Given the description of an element on the screen output the (x, y) to click on. 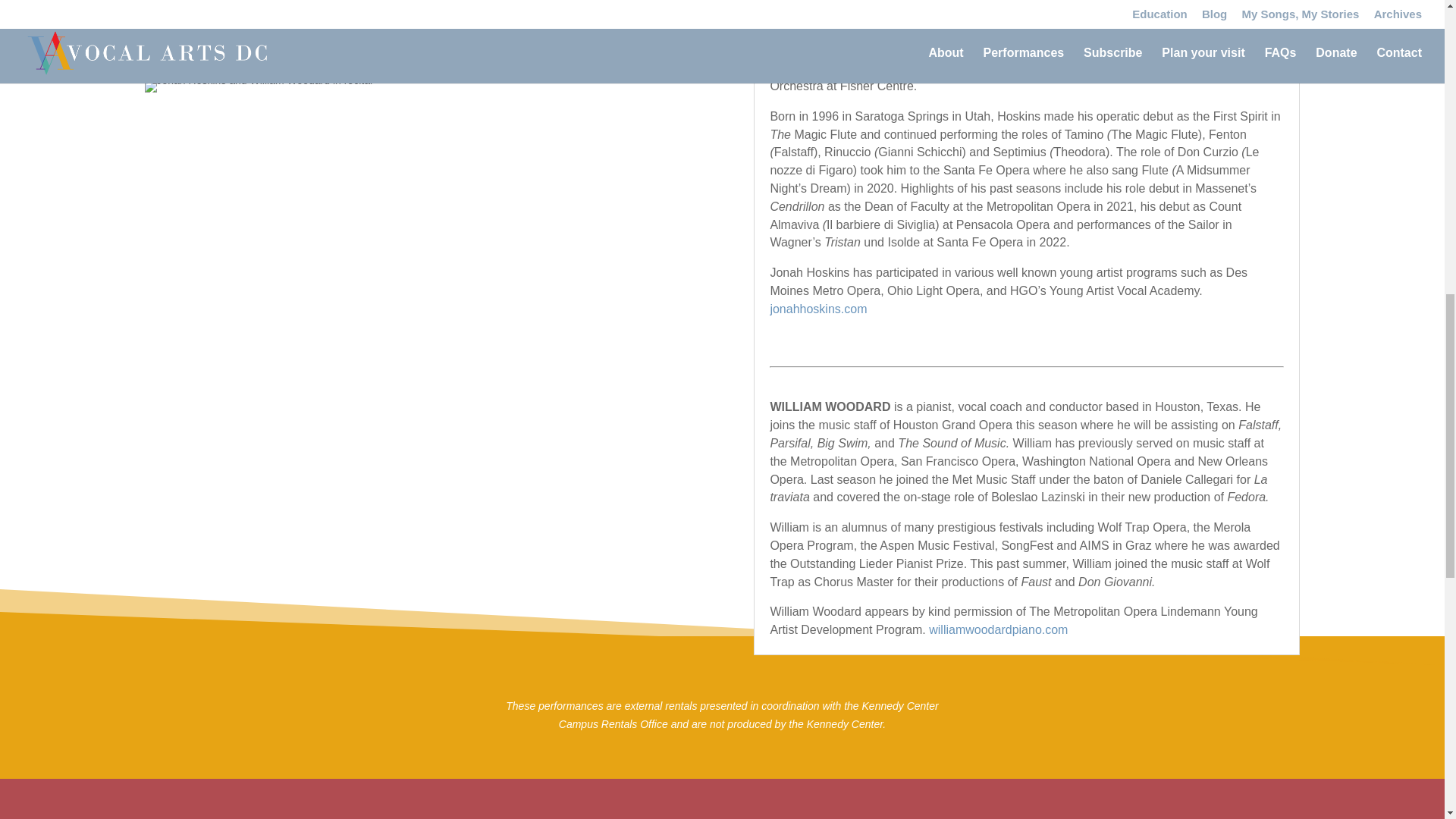
Jonah Hoskins and William Woodard in recital (258, 86)
Jonah Hoskins in recital (417, 24)
williamwoodardpiano.com (997, 629)
jonahhoskins.com (818, 308)
